Given the description of an element on the screen output the (x, y) to click on. 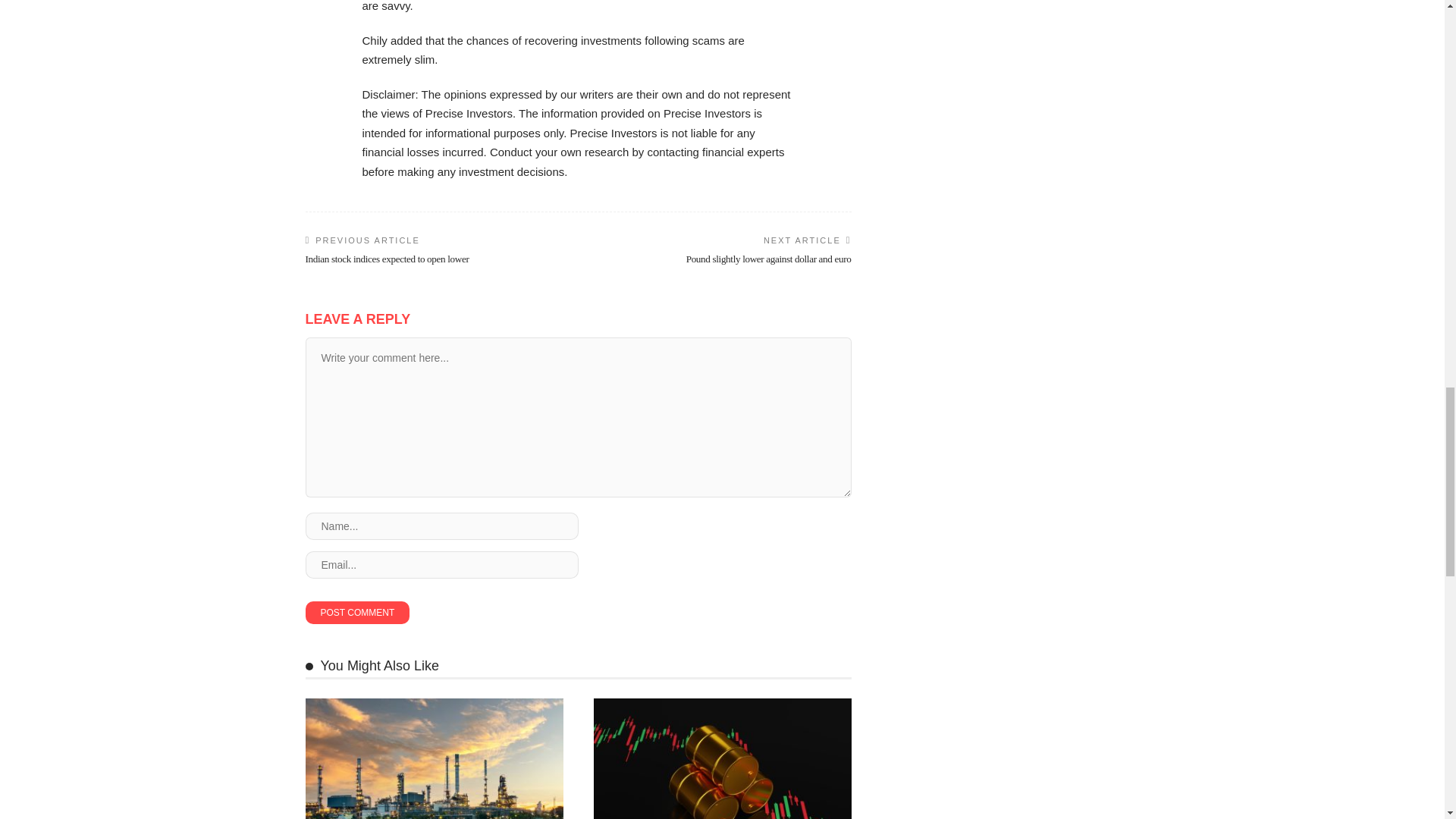
Indian stock indices expected to open lower (386, 258)
Post Comment (356, 612)
Post Comment (356, 612)
Pound slightly lower against dollar and euro (768, 258)
